Given the description of an element on the screen output the (x, y) to click on. 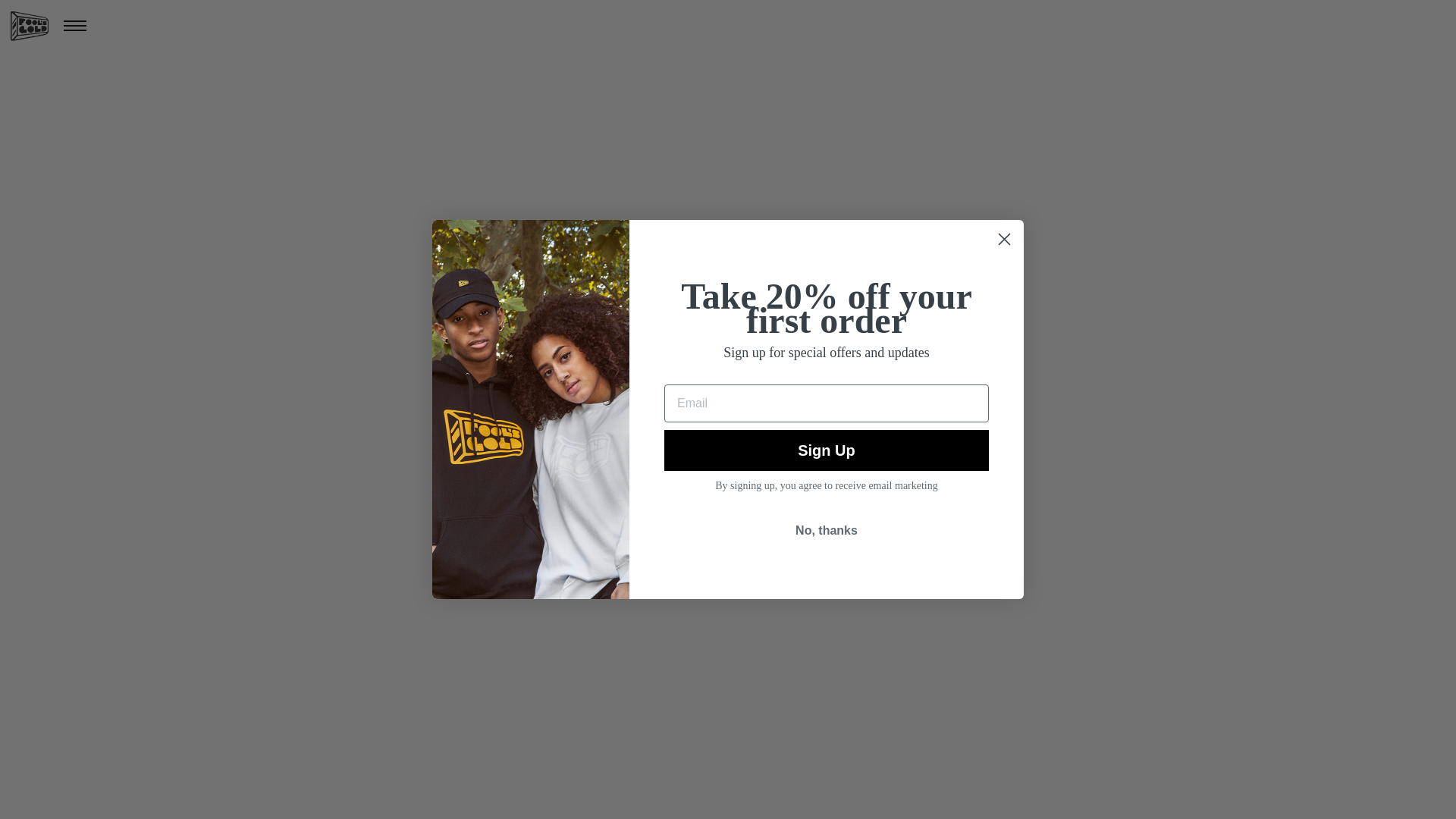
Submit (23, 9)
Sign Up (825, 449)
No, thanks (825, 530)
